Given the description of an element on the screen output the (x, y) to click on. 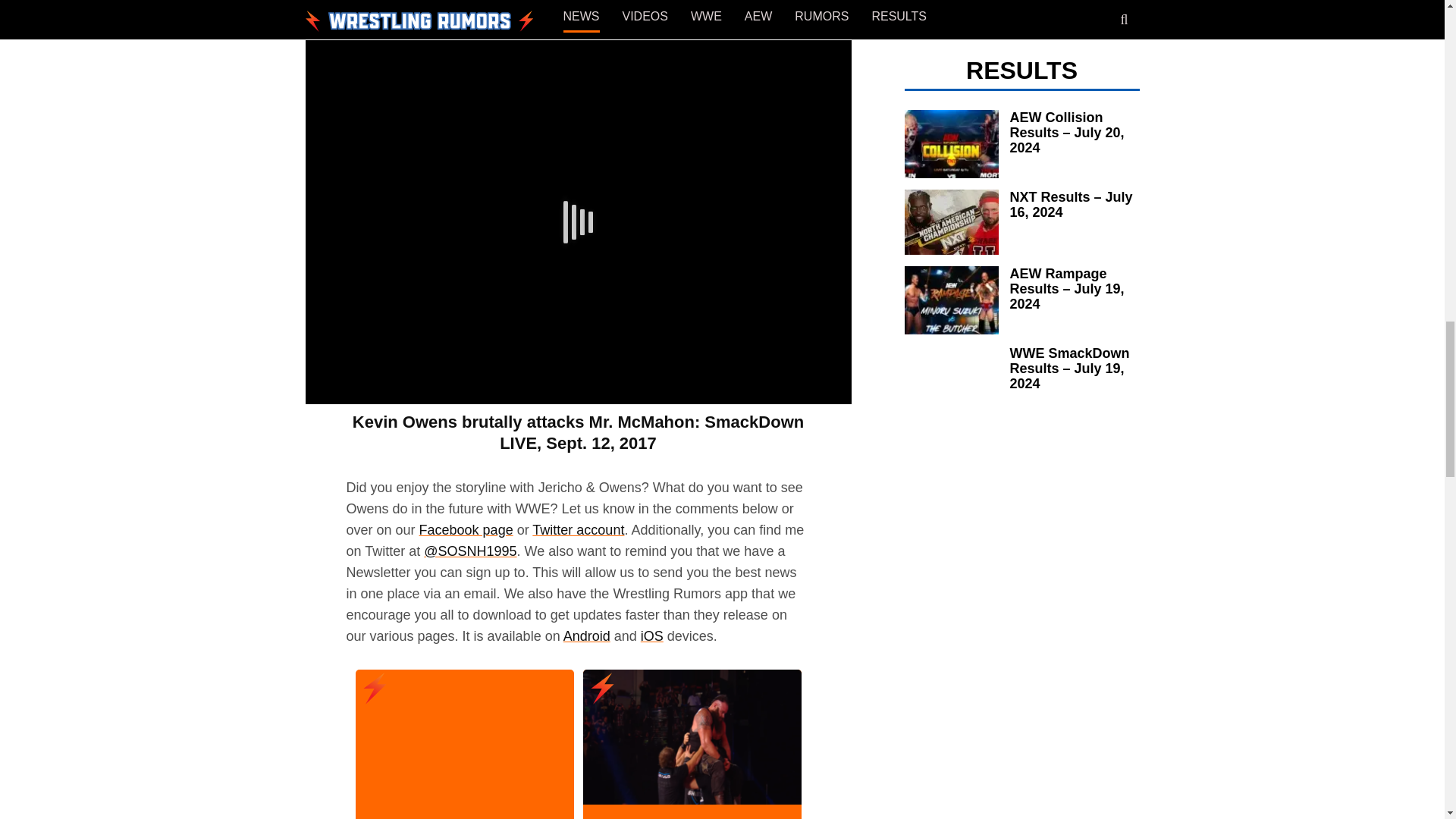
Facebook page (466, 529)
Twitter account (578, 529)
iOS (651, 635)
Android (586, 635)
